Given the description of an element on the screen output the (x, y) to click on. 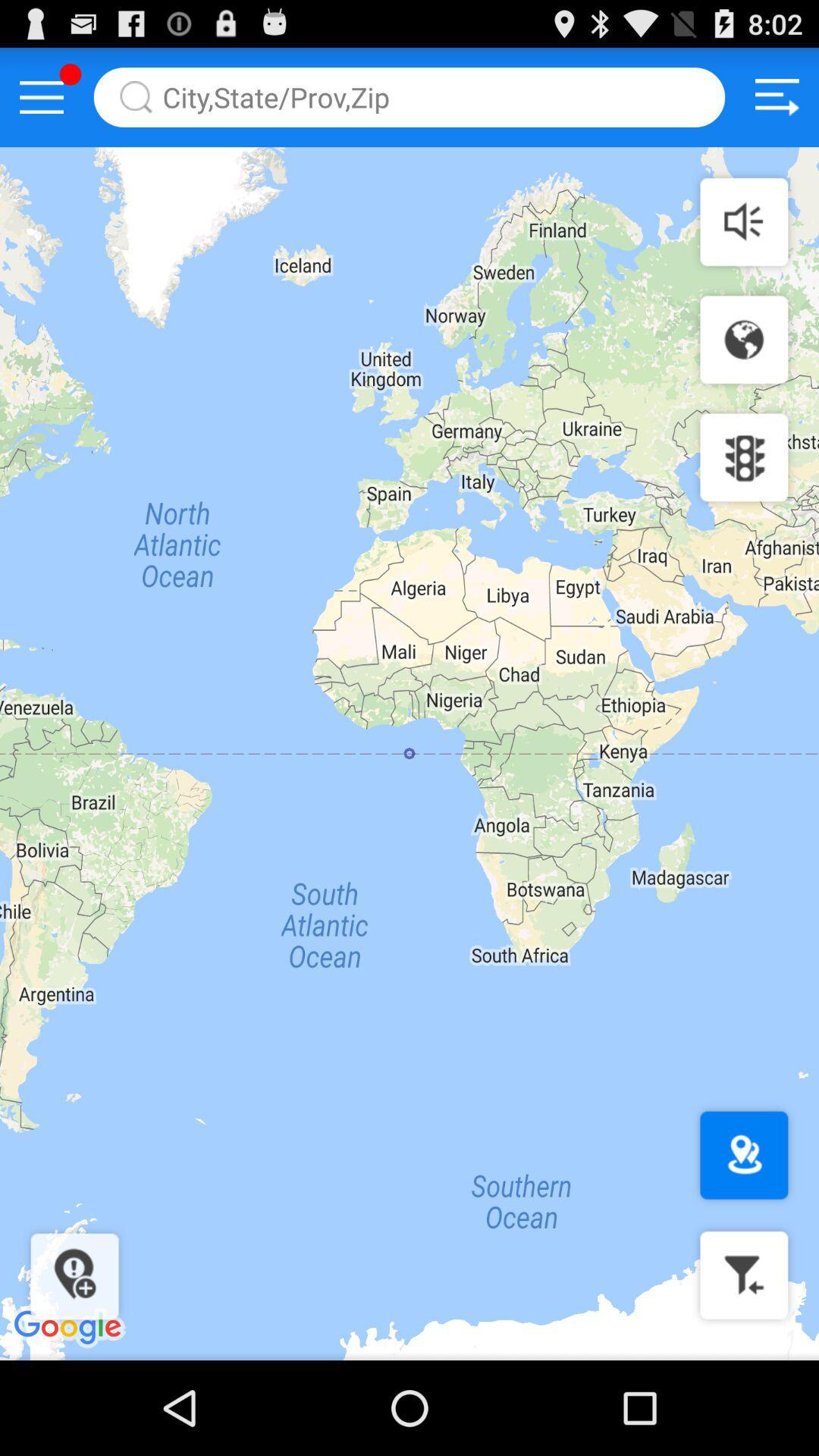
adjust volume (744, 221)
